Given the description of an element on the screen output the (x, y) to click on. 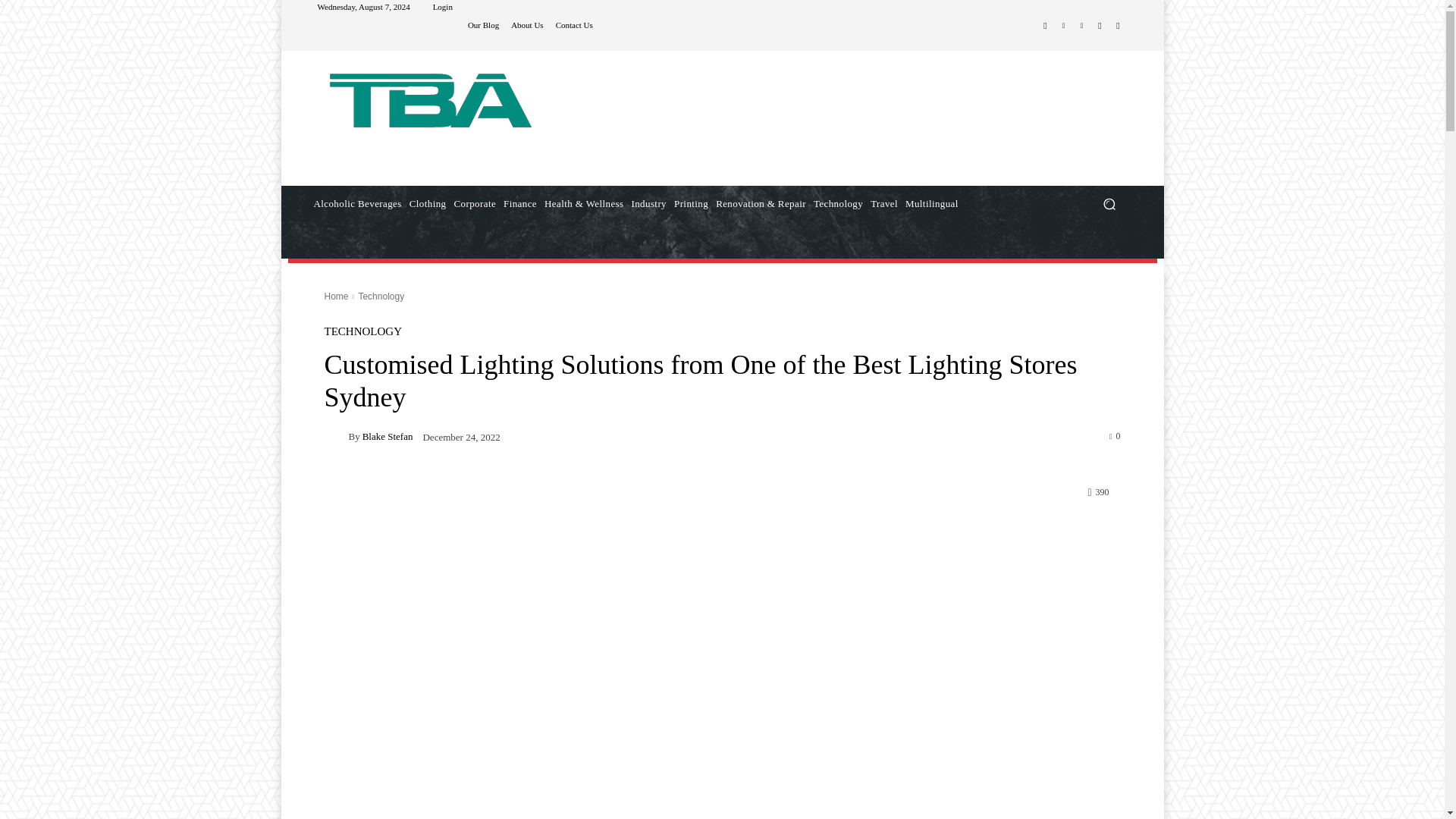
View all posts in Technology (381, 296)
Corporate (474, 203)
Our Blog (483, 25)
Technology (837, 203)
Blake Stefan (336, 435)
Pinterest (1080, 25)
Printing (690, 203)
Alcoholic Beverages (356, 203)
Clothing (427, 203)
Twitter (1099, 25)
